Given the description of an element on the screen output the (x, y) to click on. 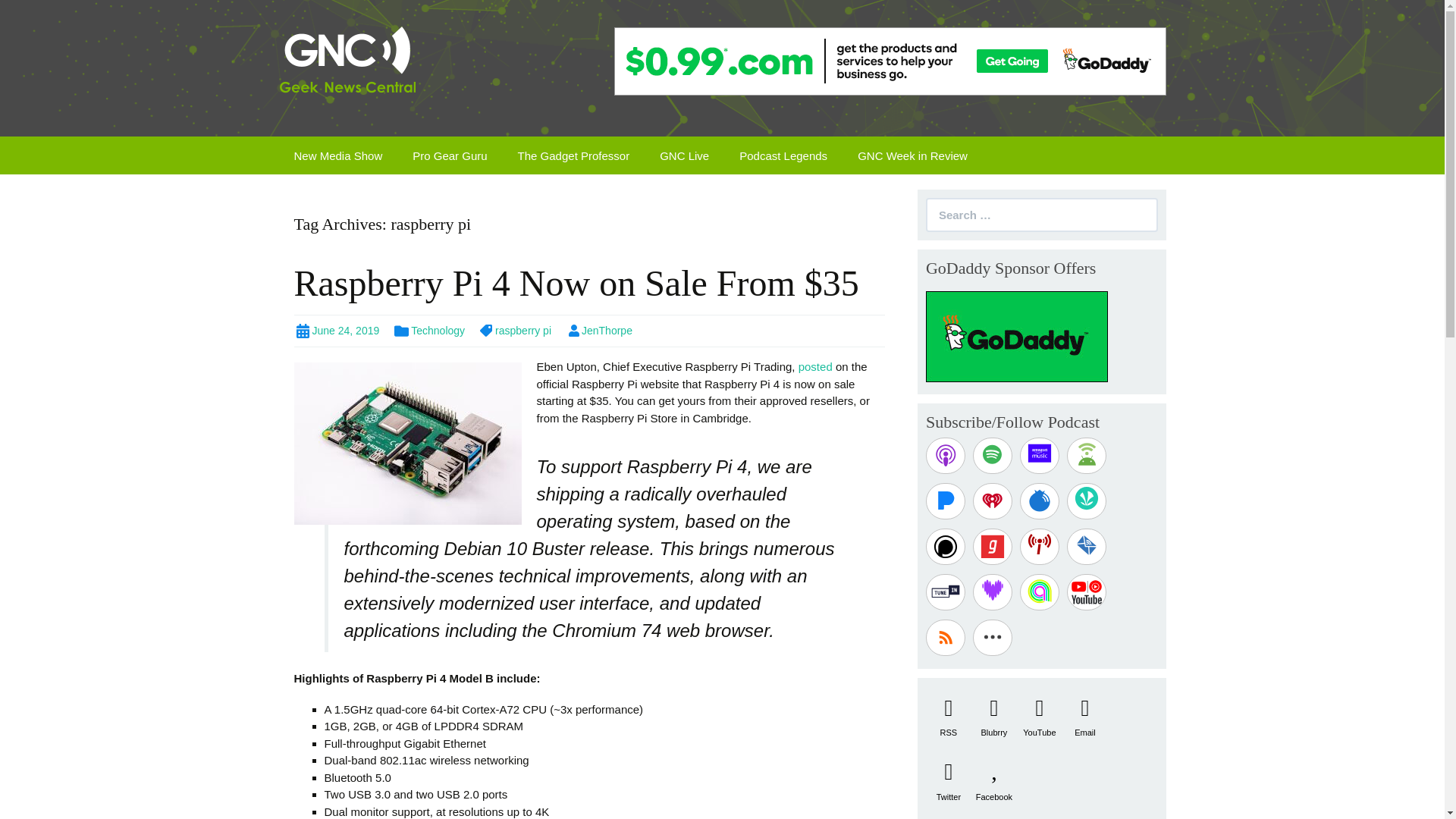
Podcast Legends (783, 155)
June 24, 2019 (337, 330)
Subscribe on Blubrry (1039, 501)
Search (23, 11)
Subscribe on Podchaser (945, 546)
New Media Show (338, 155)
Search for: (1041, 214)
JenThorpe (598, 330)
Subscribe on Apple Podcasts (945, 455)
raspberry pi (515, 330)
